Given the description of an element on the screen output the (x, y) to click on. 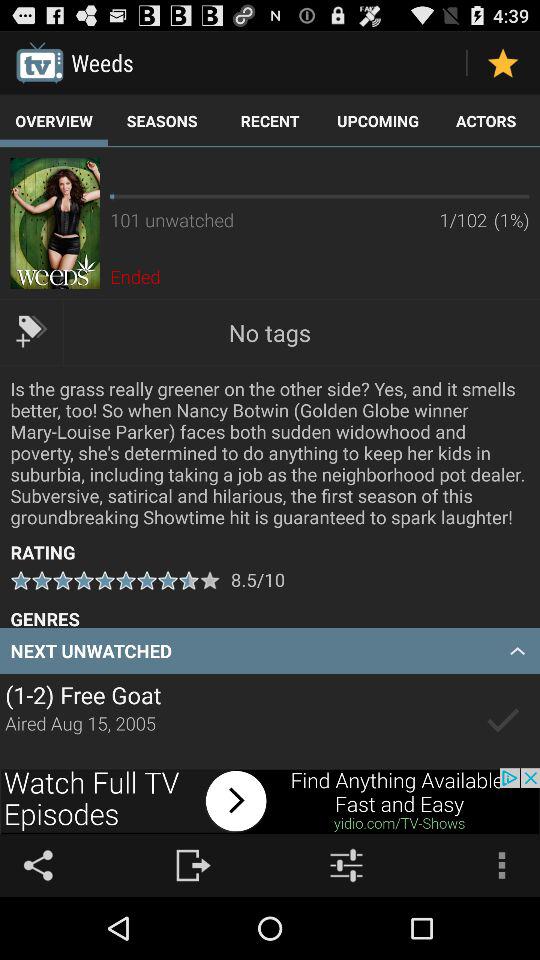
mark as watched (502, 721)
